Given the description of an element on the screen output the (x, y) to click on. 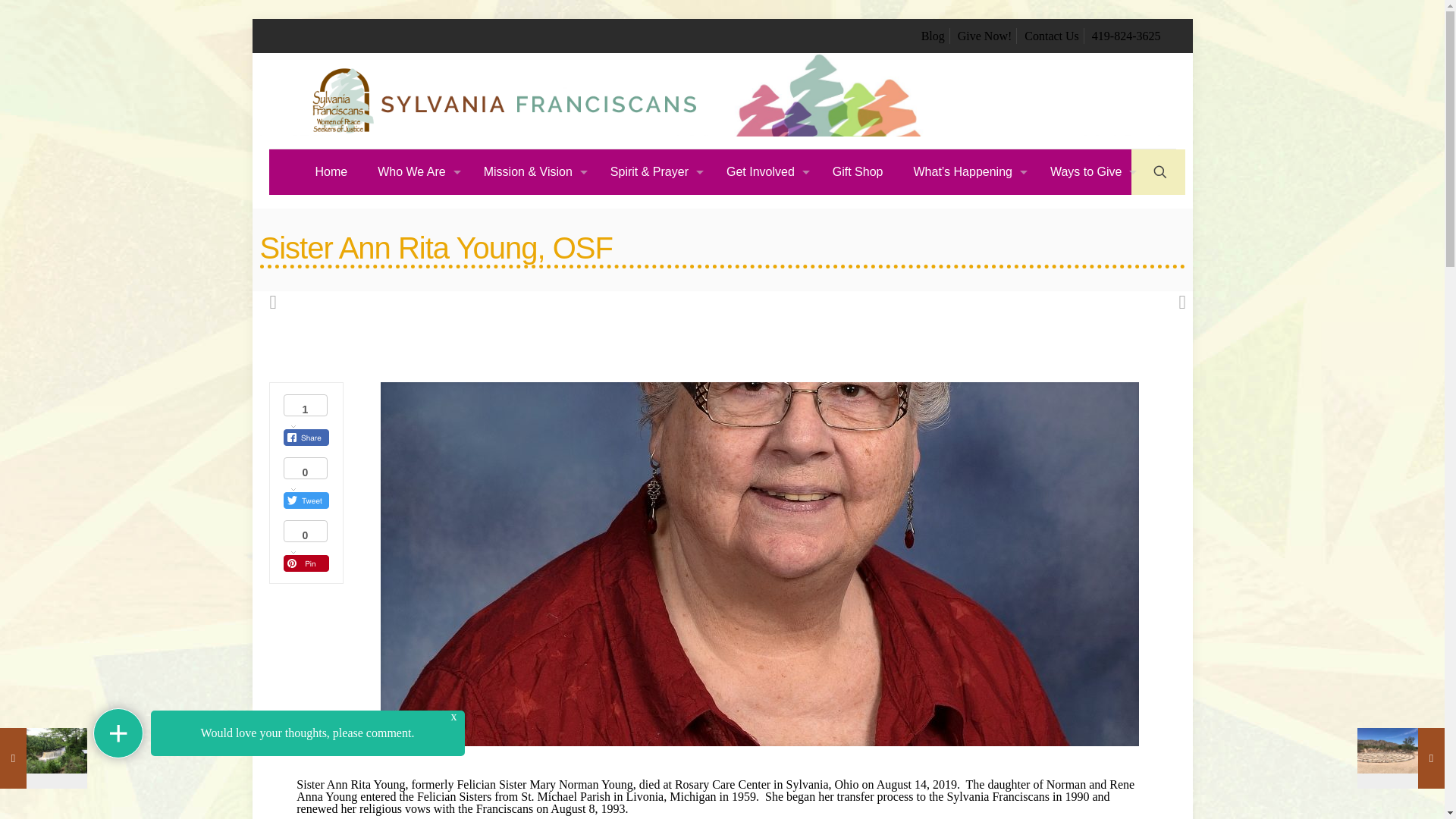
Who We Are (415, 171)
419-824-3625 (1126, 35)
Home (330, 171)
Contact Us (1051, 35)
Give Now! (984, 35)
Get Involved (763, 171)
Blog (932, 35)
